Given the description of an element on the screen output the (x, y) to click on. 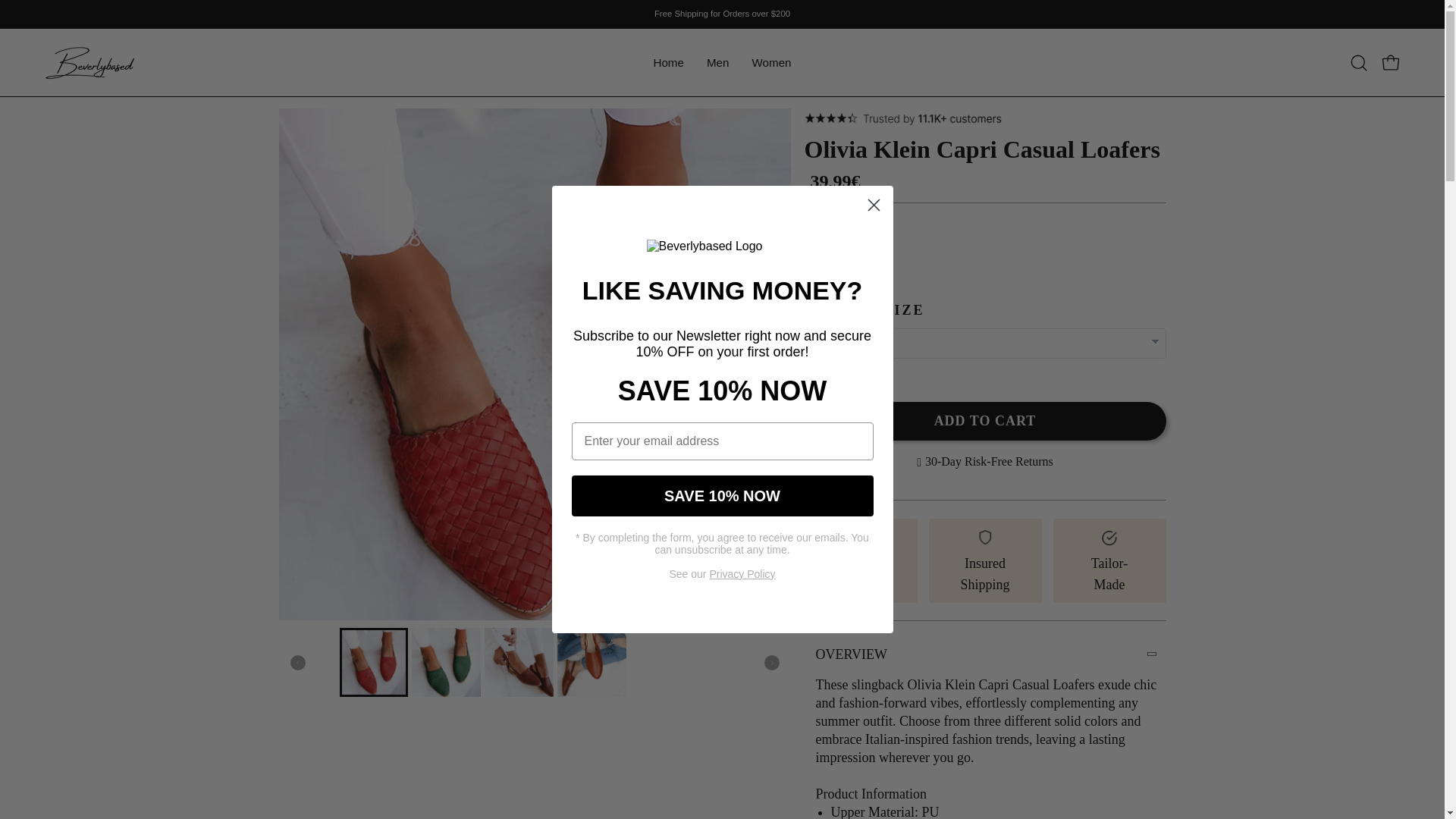
Brown (949, 264)
Green (888, 264)
Open search bar (1358, 62)
Red (827, 264)
